Given the description of an element on the screen output the (x, y) to click on. 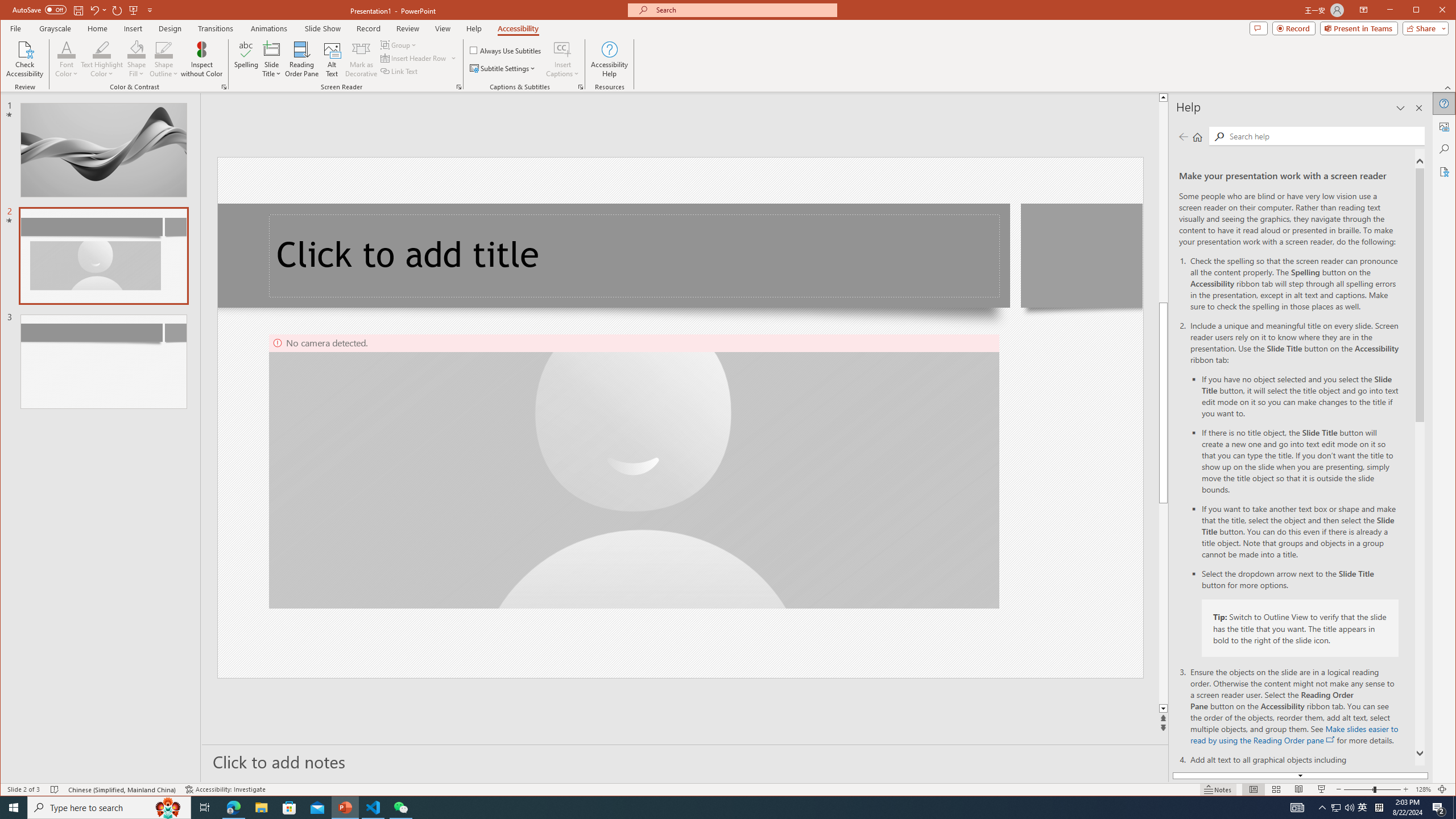
Search highlights icon opens search home window (167, 807)
openinnewwindow (1330, 739)
Previous page (1183, 136)
Task View (1362, 807)
Line up (204, 807)
Spell Check No Errors (1162, 96)
File Explorer (55, 789)
Search (261, 807)
